Given the description of an element on the screen output the (x, y) to click on. 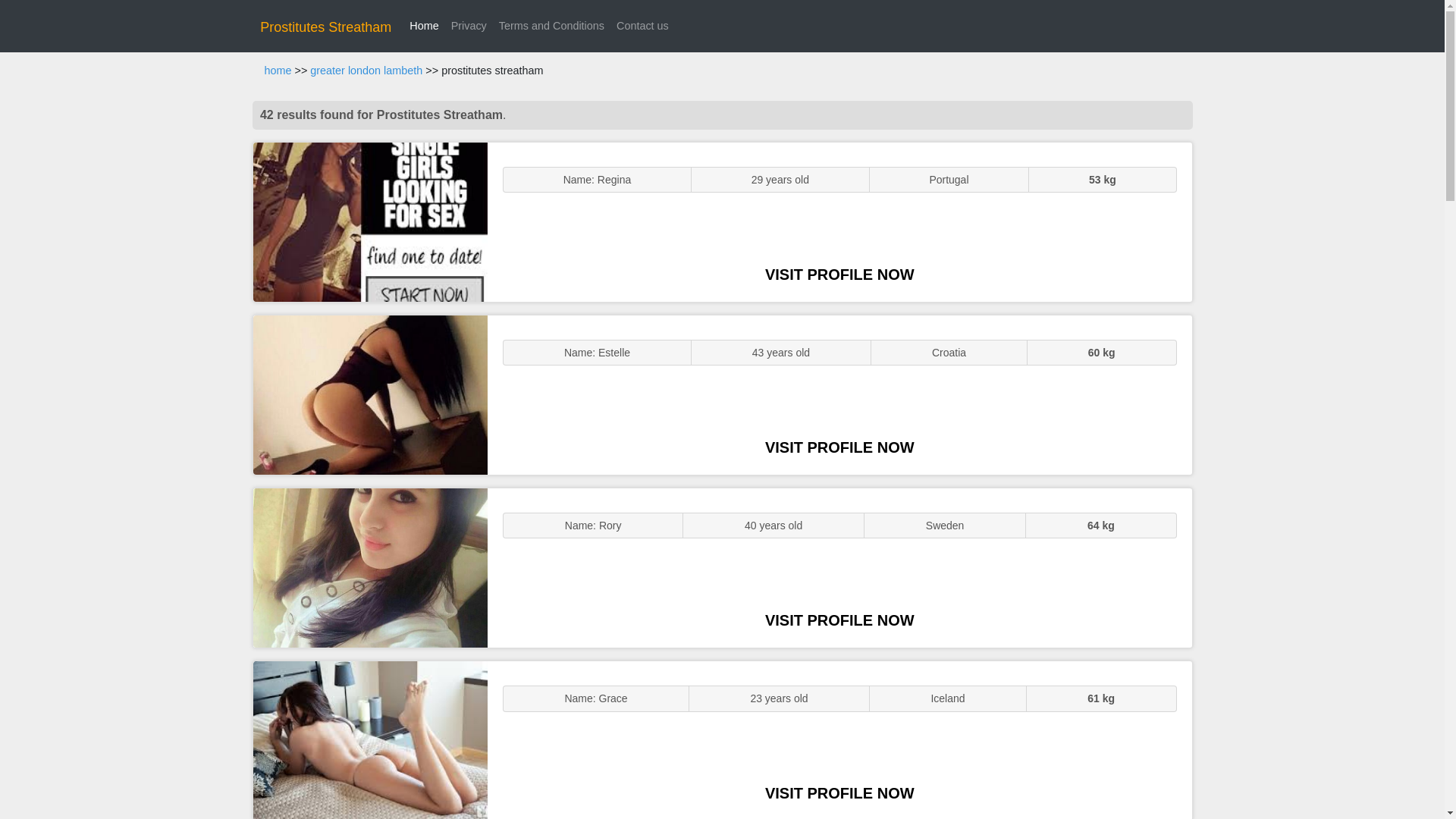
Privacy (469, 25)
VISIT PROFILE NOW (839, 446)
VISIT PROFILE NOW (839, 274)
greater london lambeth (366, 70)
Prostitutes Streatham (325, 27)
 ENGLISH STUNNER (370, 222)
GFE (370, 395)
VISIT PROFILE NOW (839, 619)
Sexy (370, 567)
home (277, 70)
Sluts (370, 739)
Contact us (642, 25)
VISIT PROFILE NOW (839, 792)
Terms and Conditions (551, 25)
